Given the description of an element on the screen output the (x, y) to click on. 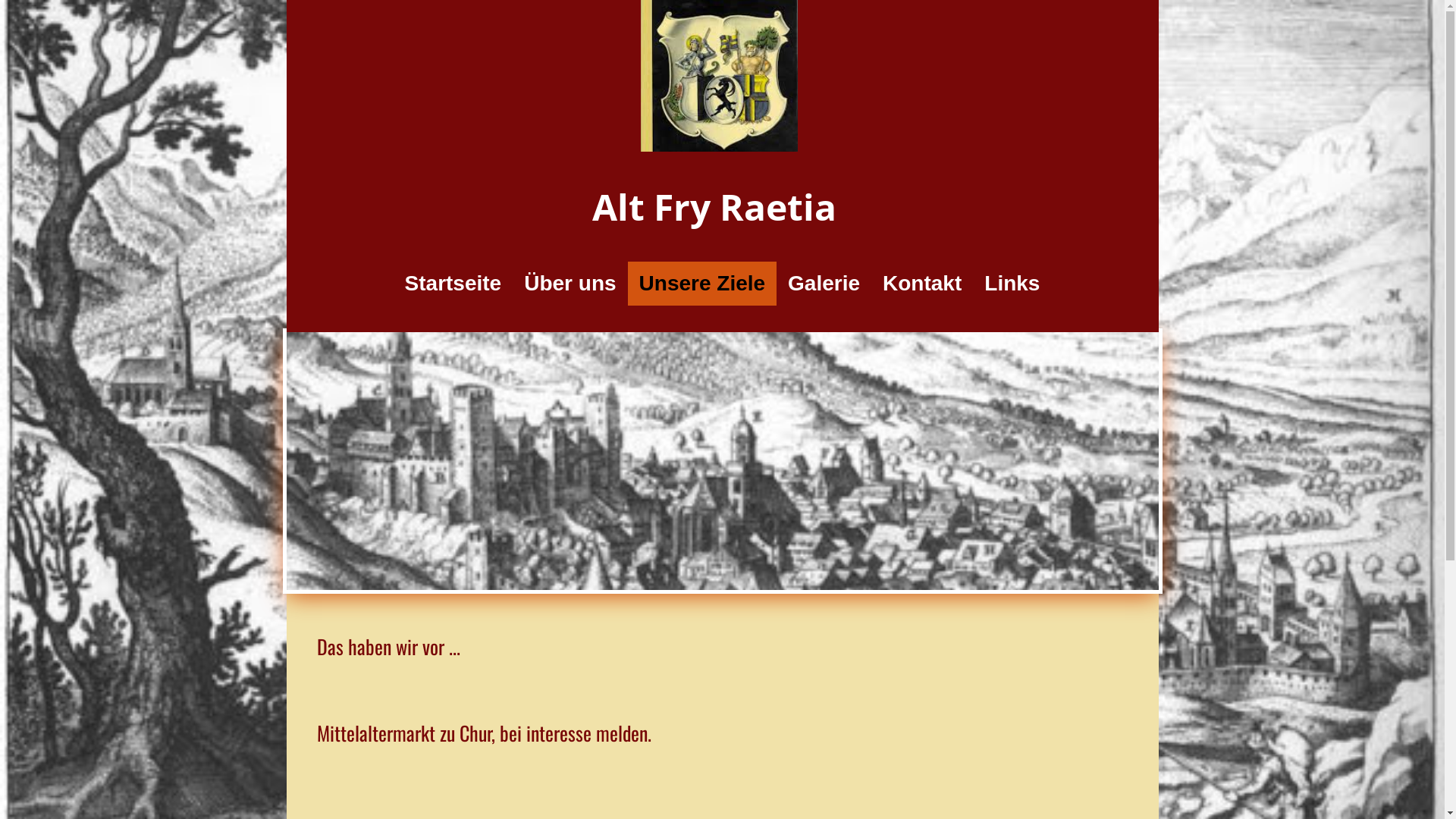
Unsere Ziele Element type: text (702, 283)
Galerie Element type: text (823, 283)
Links Element type: text (1011, 283)
Startseite Element type: text (453, 283)
Kontakt Element type: text (921, 283)
